Given the description of an element on the screen output the (x, y) to click on. 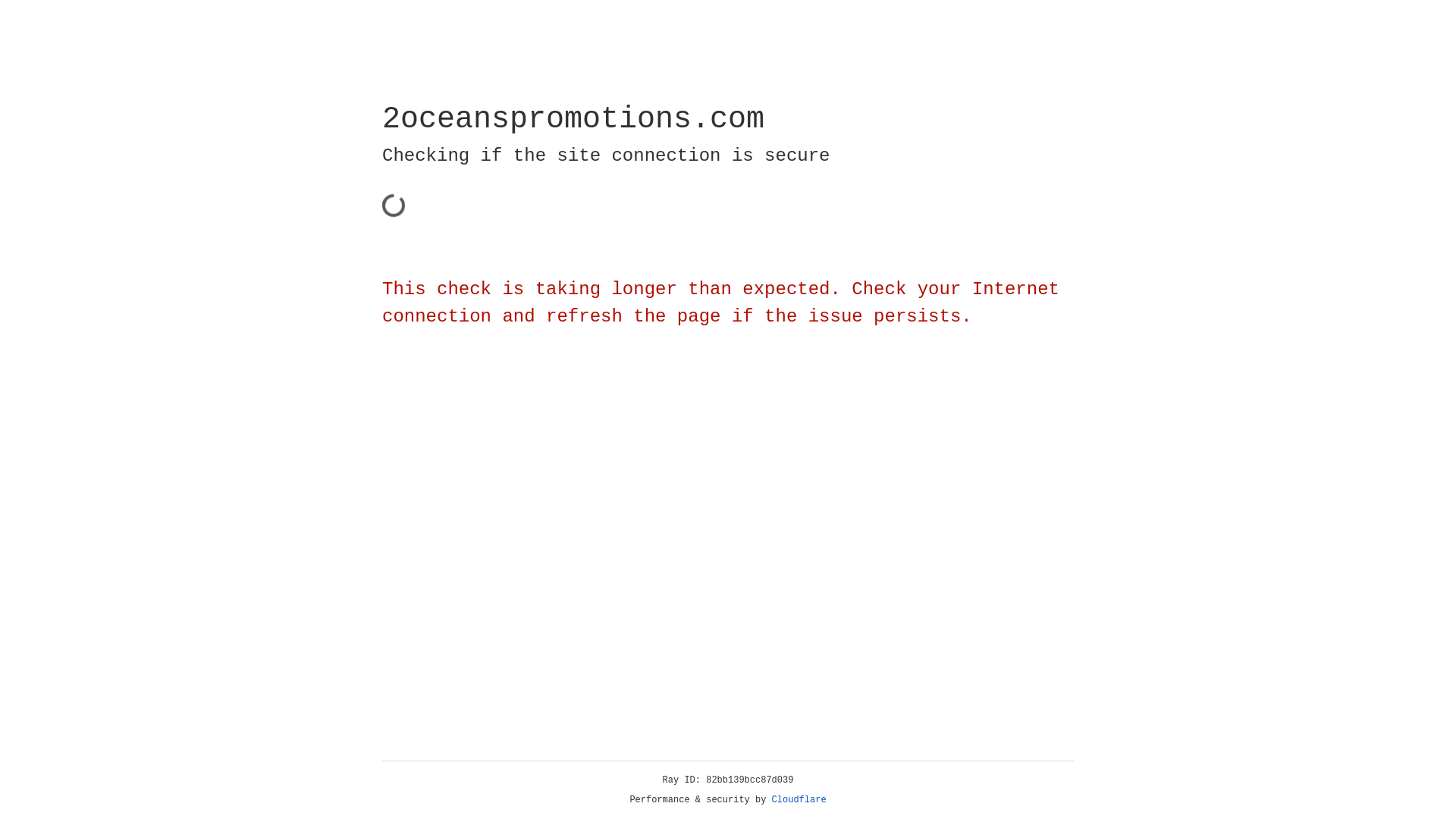
Cloudflare Element type: text (165, 107)
